Given the description of an element on the screen output the (x, y) to click on. 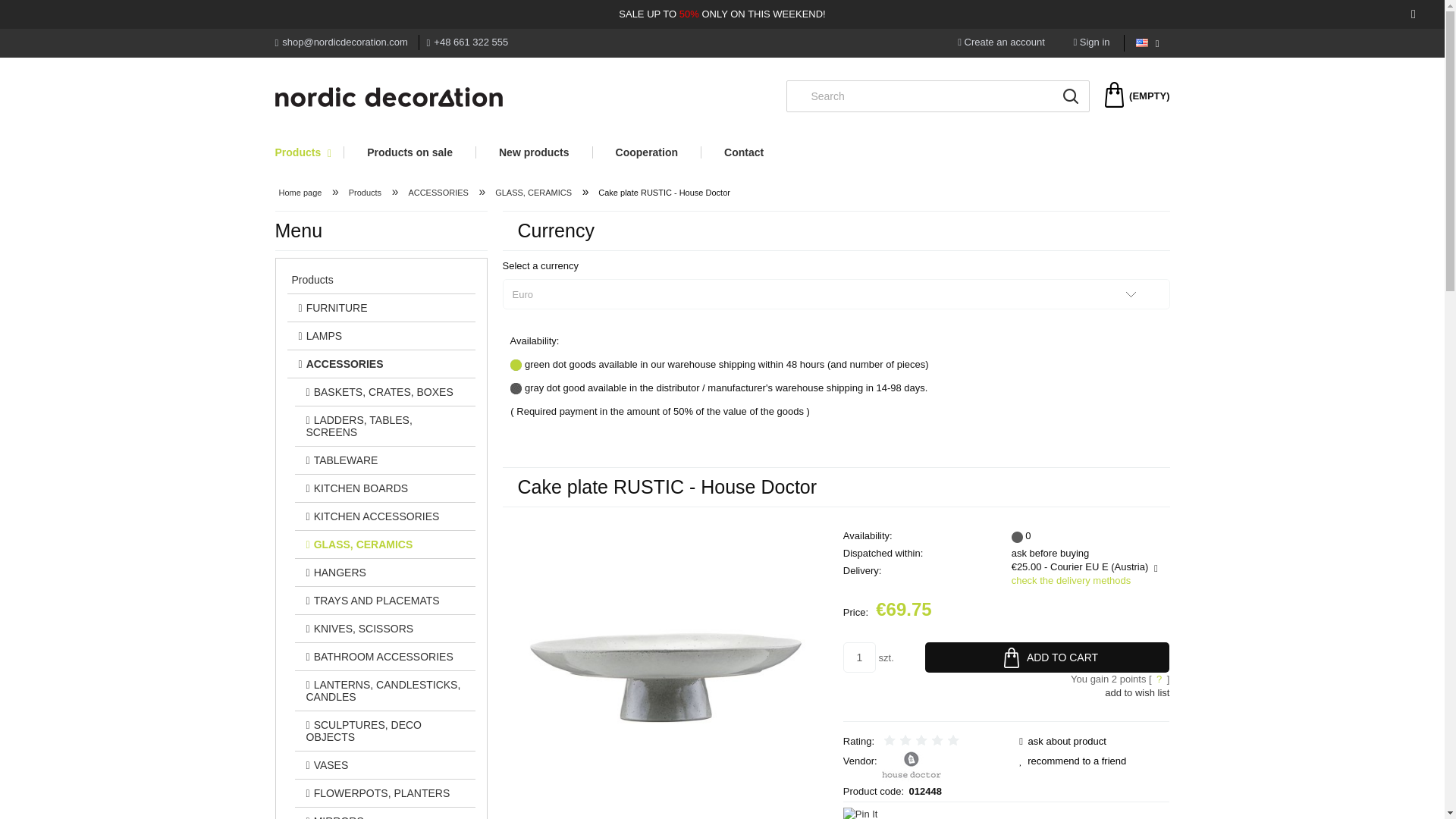
Create an account (1001, 41)
Create an account (1001, 41)
1 (859, 657)
Cart (1137, 95)
Products (309, 152)
Products (309, 152)
Home page (388, 97)
Sign in (1091, 41)
Sign in (1091, 41)
